Given the description of an element on the screen output the (x, y) to click on. 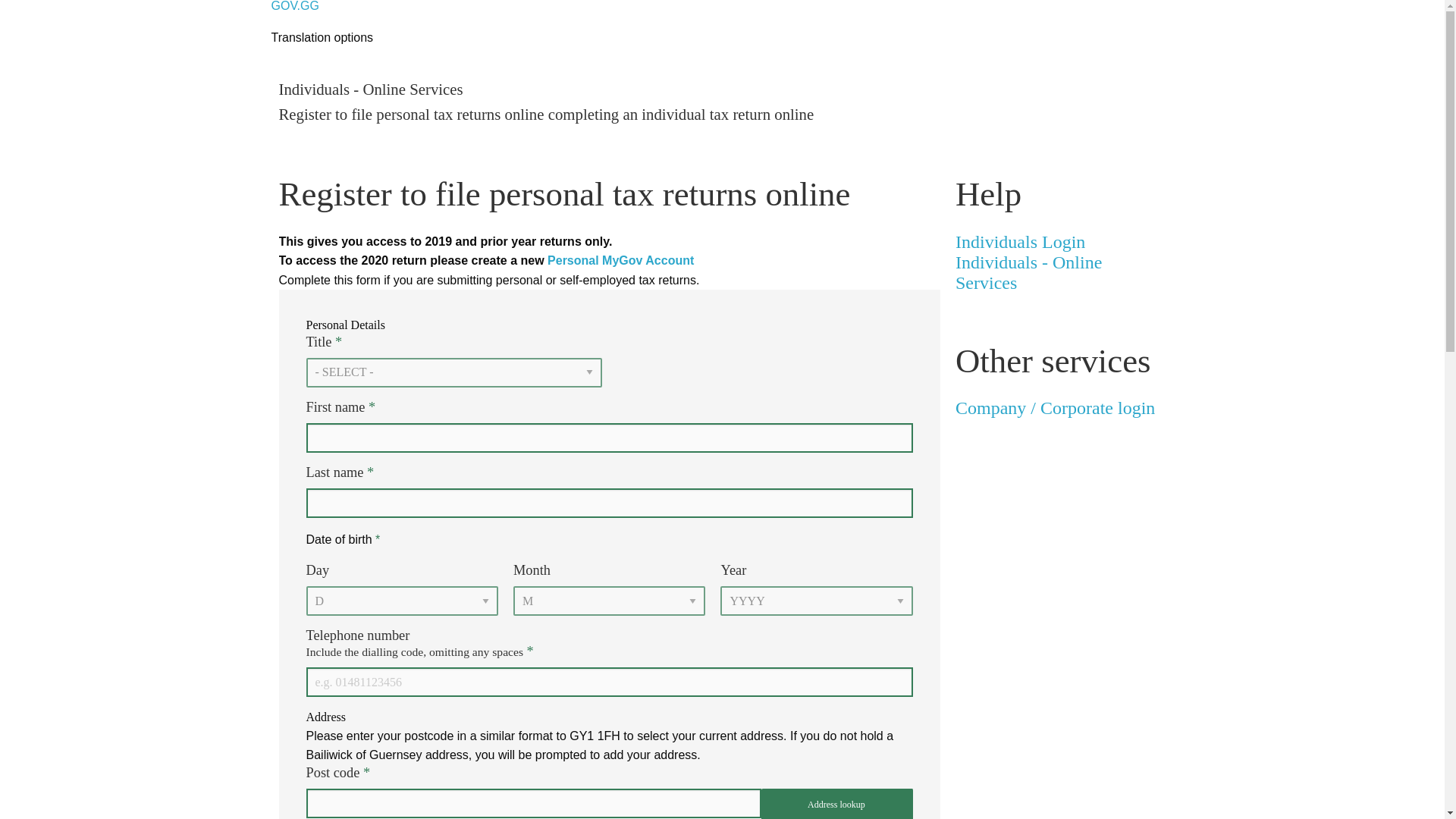
Address lookup (836, 803)
GOV.GG (1060, 262)
Personal MyGov Account (294, 6)
Individuals - Online Services (620, 259)
